Given the description of an element on the screen output the (x, y) to click on. 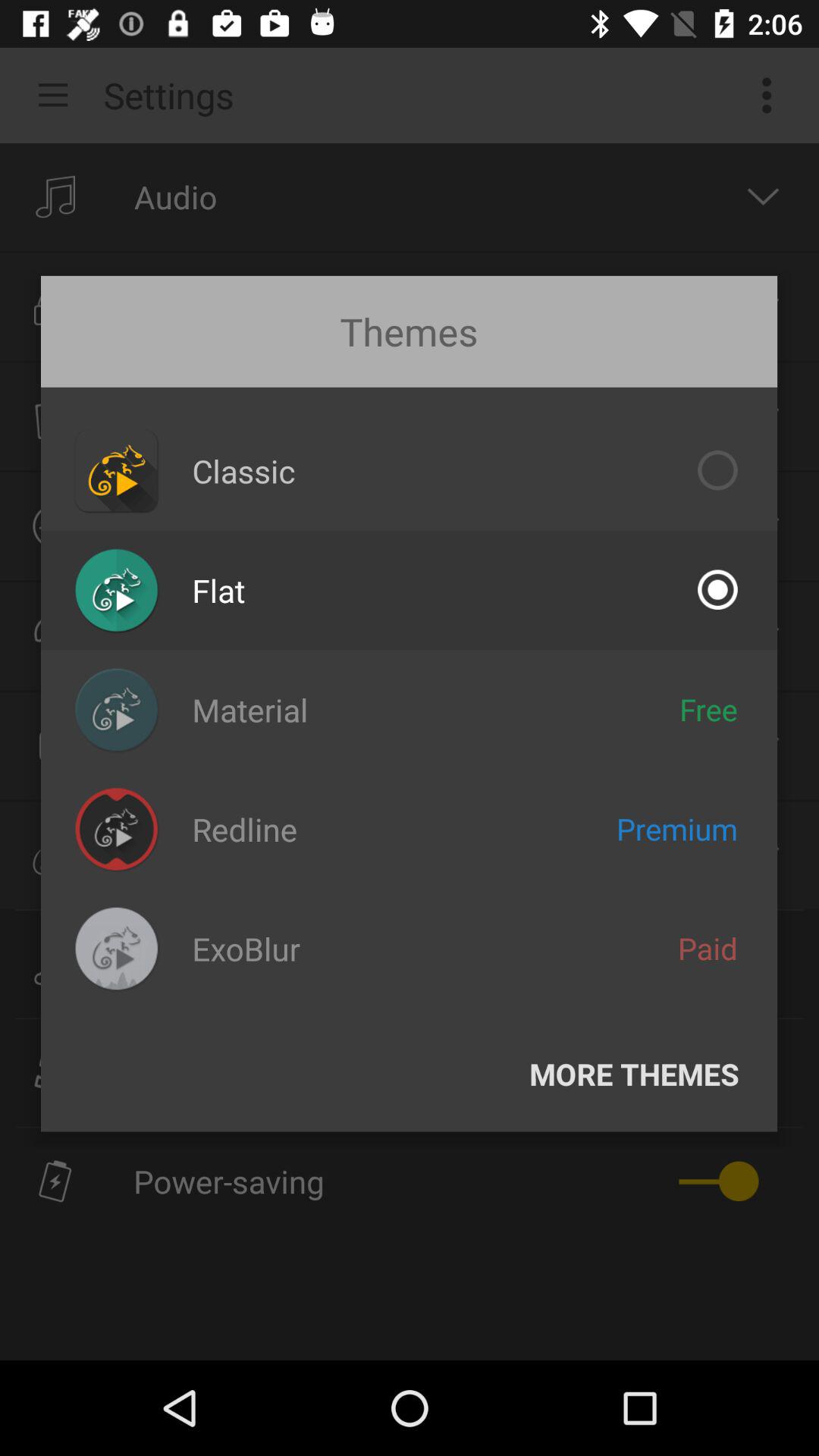
open more themes (633, 1073)
